Given the description of an element on the screen output the (x, y) to click on. 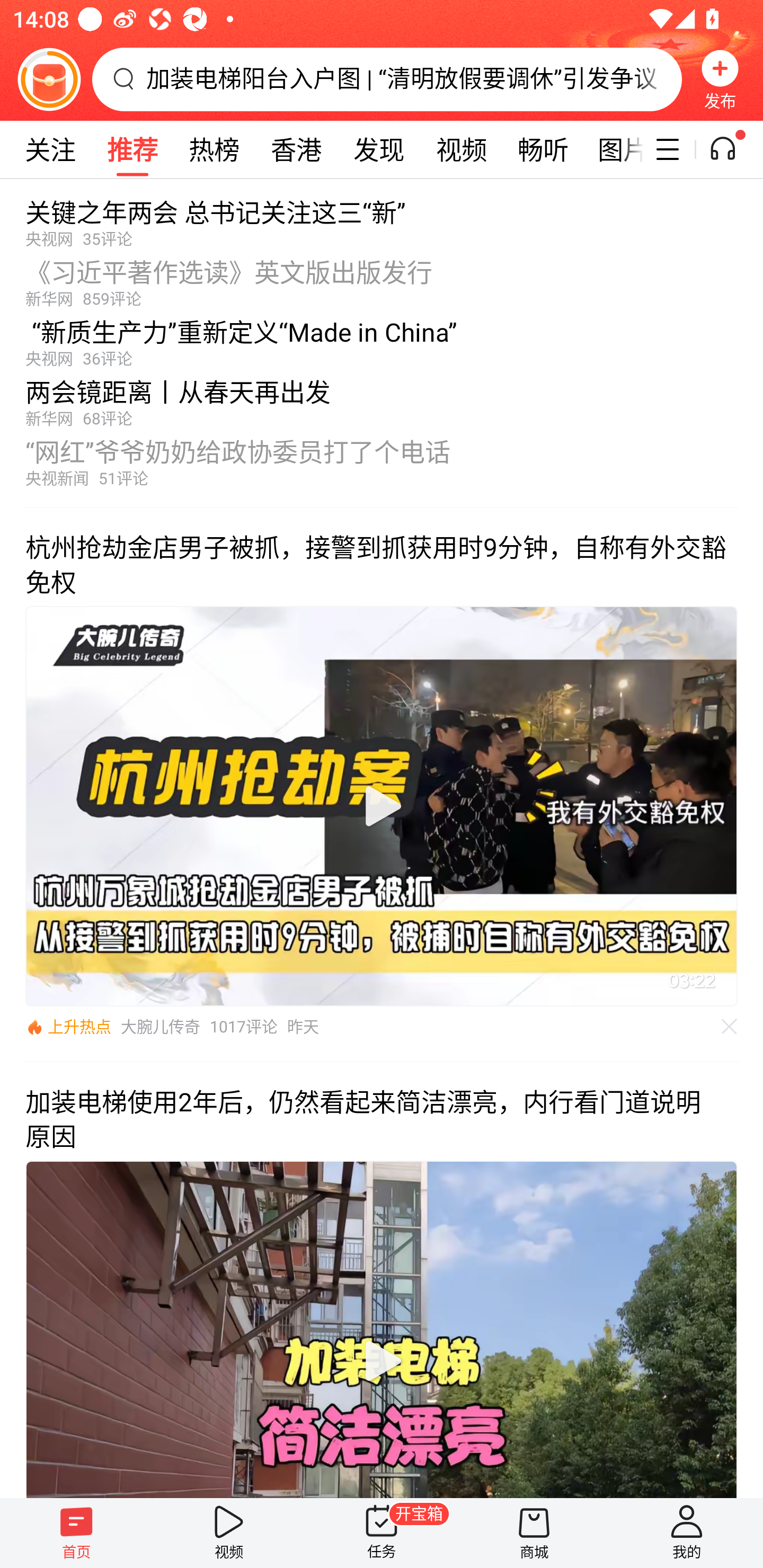
阅读赚金币 (48, 79)
发布 发布，按钮 (720, 78)
关注 (50, 149)
推荐 (132, 149)
热榜 (213, 149)
香港 (295, 149)
发现 (378, 149)
视频 (461, 149)
畅听 (542, 149)
图片 (613, 149)
听一听开关 (732, 149)
两会镜距离丨从春天再出发新华网68评论 文章 两会镜距离丨从春天再出发 新华网68评论 (381, 398)
播放视频 视频播放器，双击屏幕打开播放控制 (381, 805)
播放视频 (381, 806)
不感兴趣 (729, 1026)
播放视频 视频播放器，双击屏幕打开播放控制 (381, 1328)
播放视频 (381, 1360)
首页 (76, 1532)
视频 (228, 1532)
任务 开宝箱 (381, 1532)
商城 (533, 1532)
我的 (686, 1532)
